Given the description of an element on the screen output the (x, y) to click on. 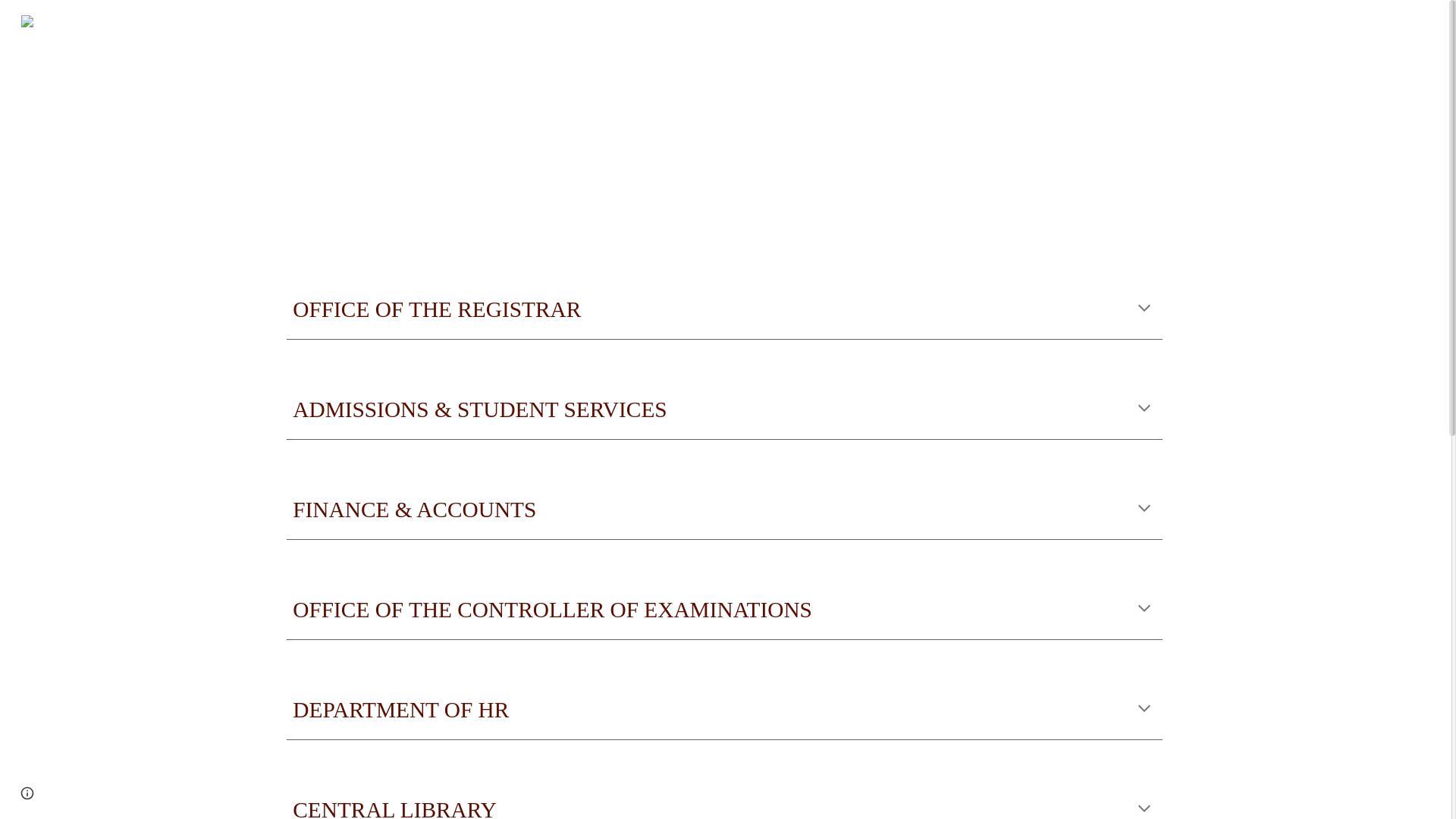
VIRTUAL Element type: text (68, 19)
